Given the description of an element on the screen output the (x, y) to click on. 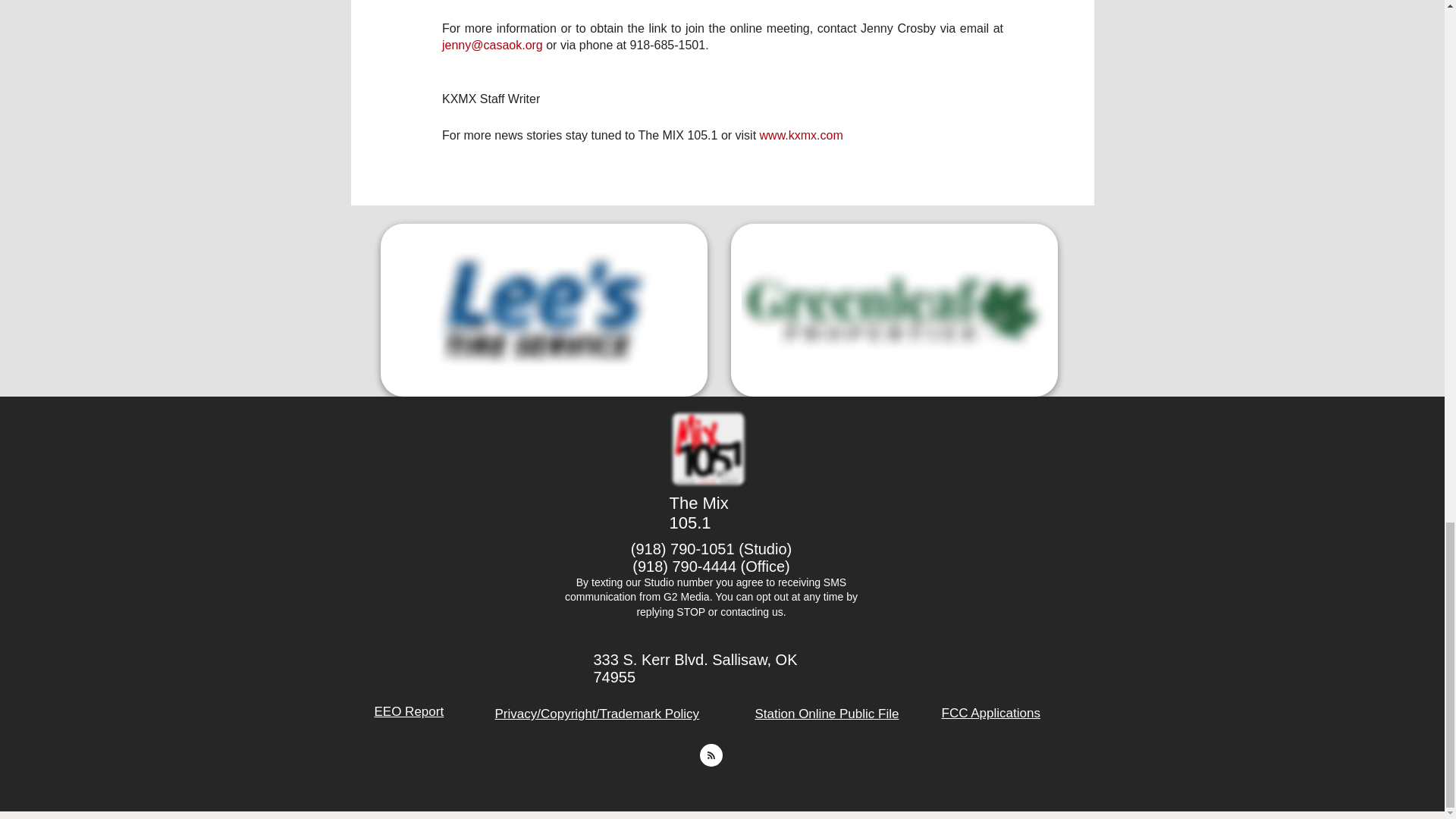
FCC Applications (991, 712)
 www.kxmx.com (799, 134)
Station Online Public File (827, 713)
333 S. Kerr Blvd. Sallisaw, OK 74955 (694, 668)
EEO Report (409, 711)
